Given the description of an element on the screen output the (x, y) to click on. 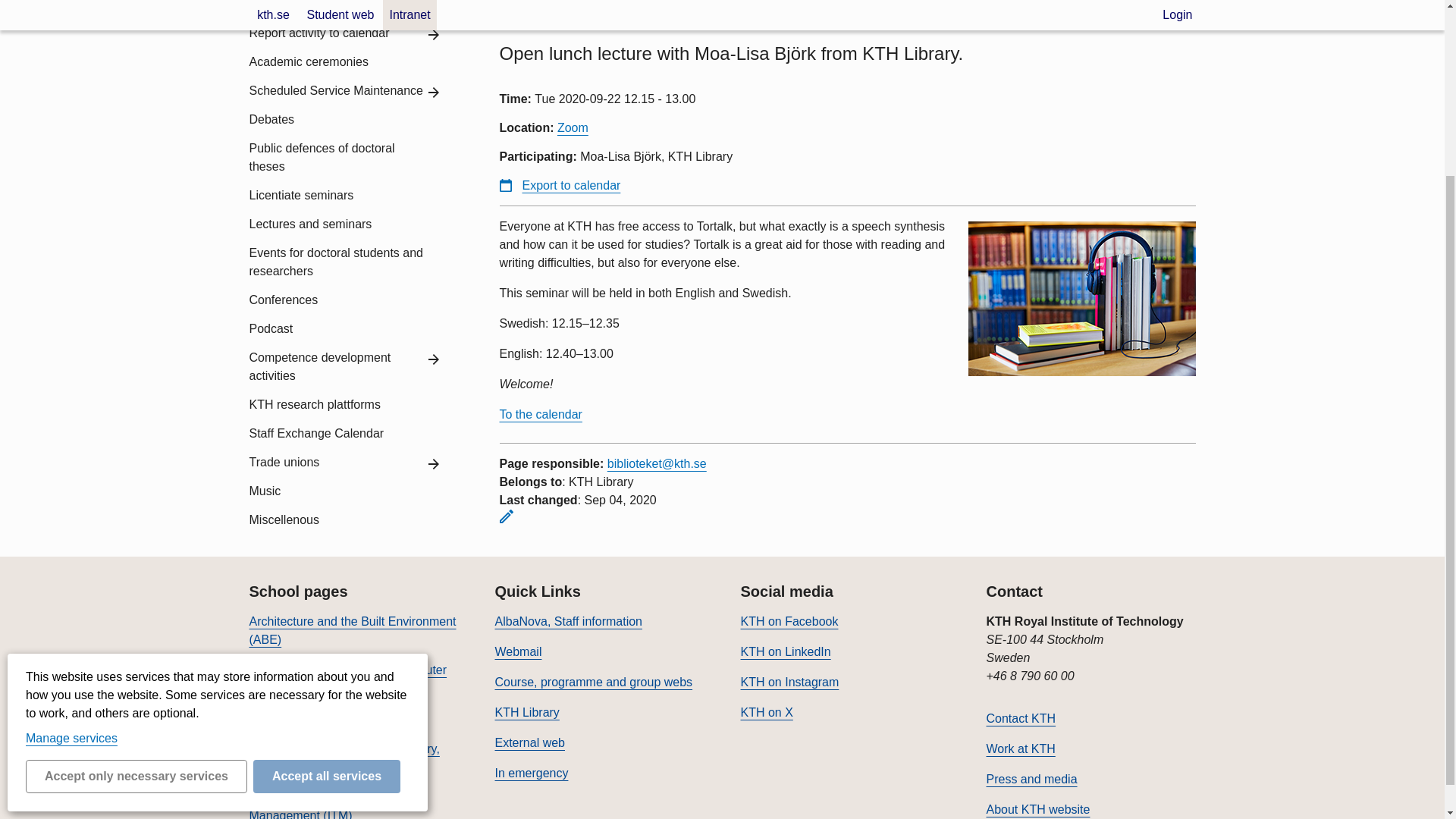
Accept only necessary services (136, 554)
Accept all services (326, 554)
Manage services (71, 516)
